Given the description of an element on the screen output the (x, y) to click on. 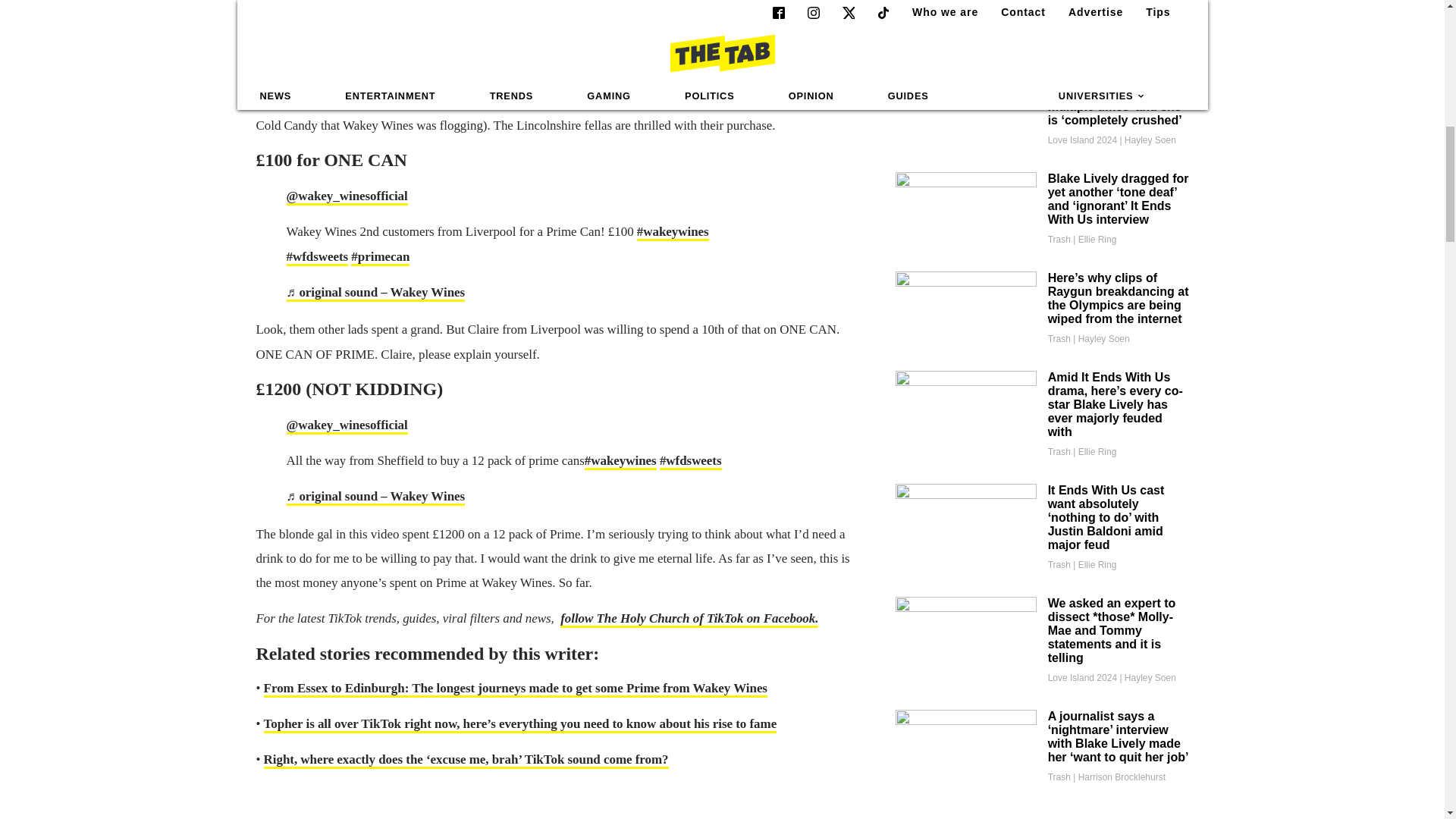
wakeywines (673, 232)
fyp (705, 6)
primecan (379, 257)
wakeywines (620, 461)
wfdsweets (317, 257)
wfdsweets (690, 461)
prime (670, 6)
wfdsweets (617, 6)
wakeywines (547, 6)
